Given the description of an element on the screen output the (x, y) to click on. 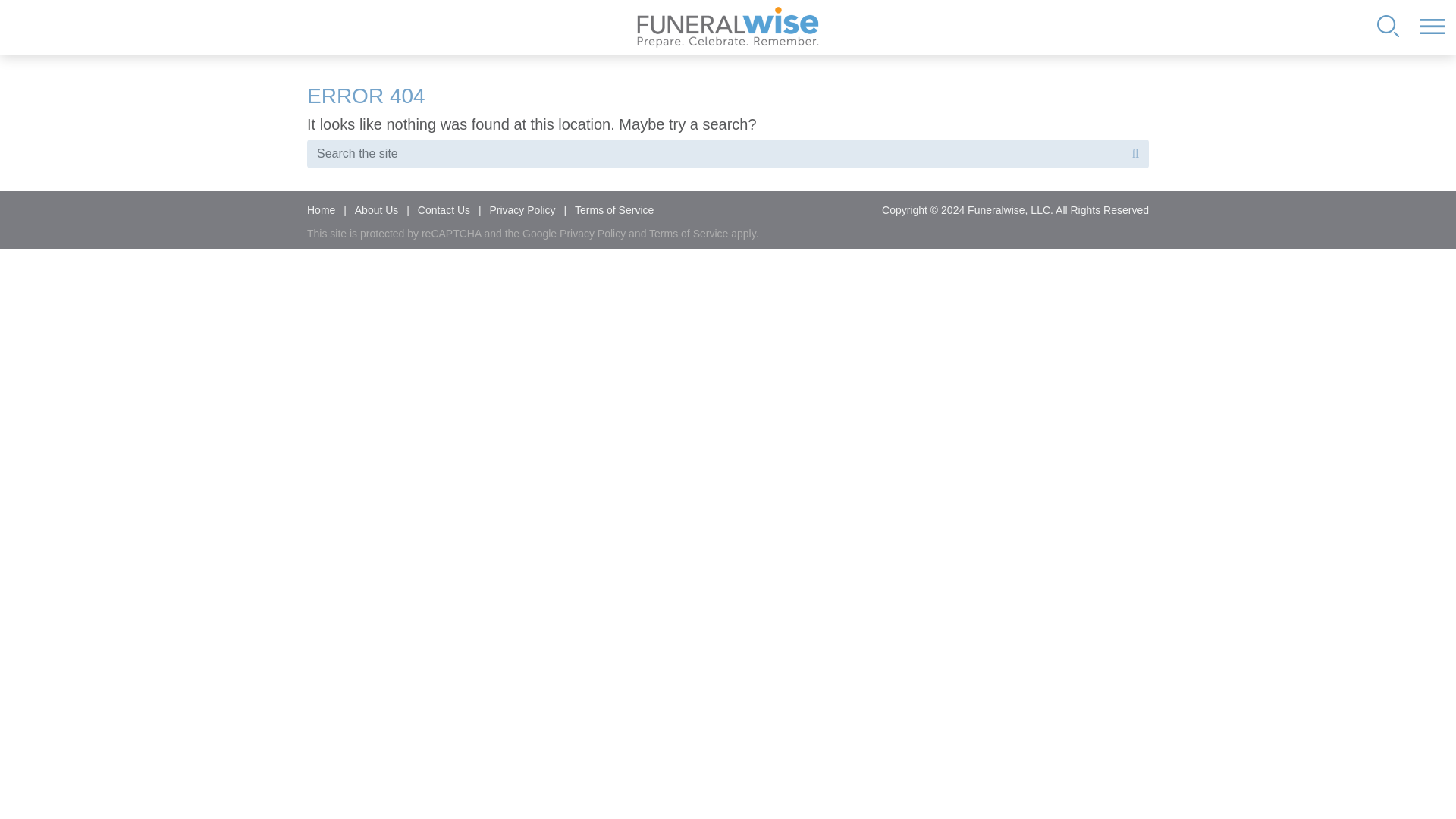
About Us (376, 209)
Contact Us (444, 209)
Home (323, 209)
Terms of Service (614, 209)
Terms of Service (688, 233)
Privacy Policy (521, 209)
Privacy Policy (592, 233)
